Given the description of an element on the screen output the (x, y) to click on. 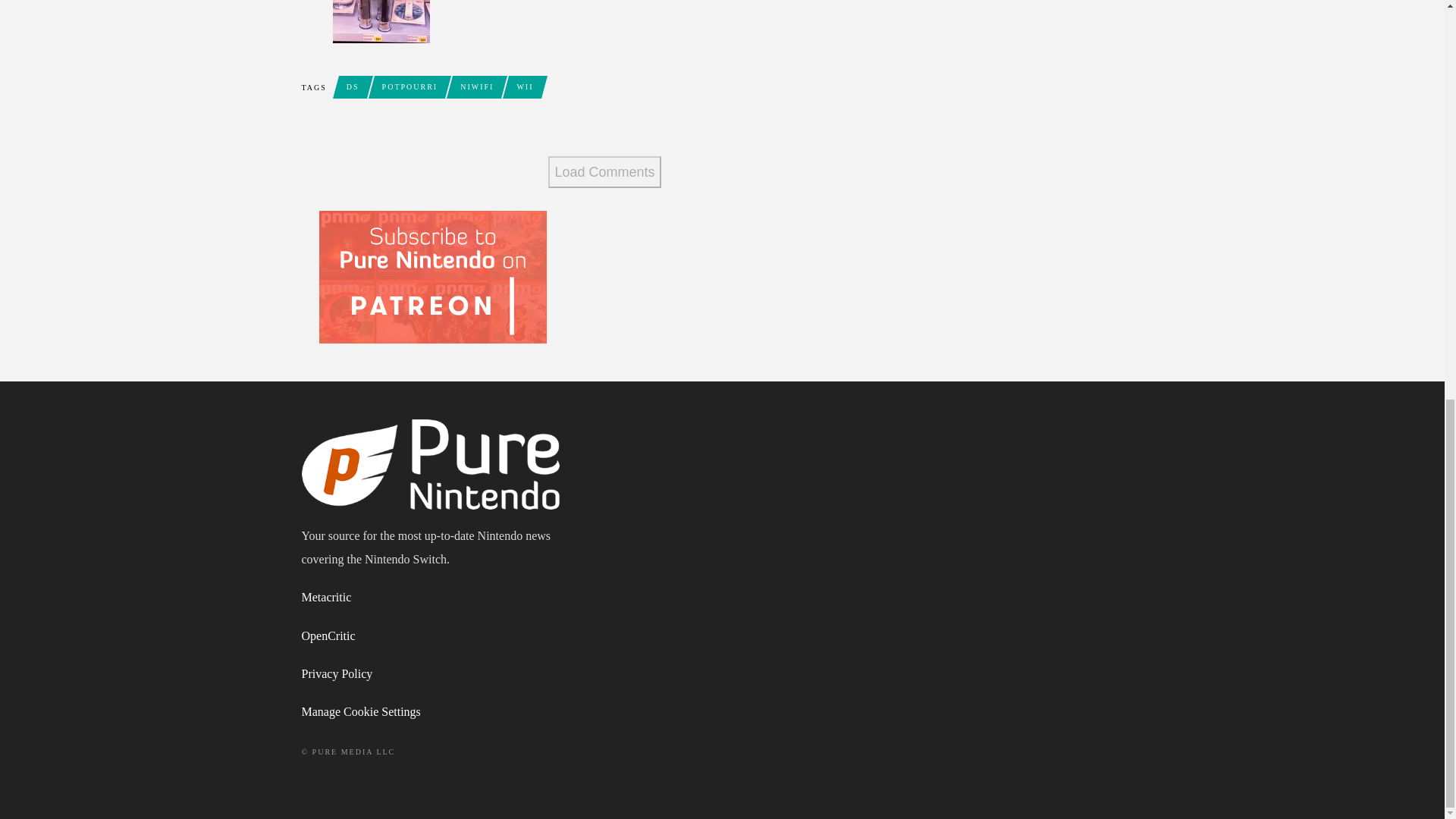
WII (524, 87)
Load Comments (604, 172)
Manage Cookie Settings (360, 711)
Privacy Policy (336, 673)
DS (352, 87)
Metacritic (326, 596)
NIWIFI (476, 87)
Pure Nintendo Patreon (432, 276)
POTPOURRI (409, 87)
OpenCritic (328, 635)
